Given the description of an element on the screen output the (x, y) to click on. 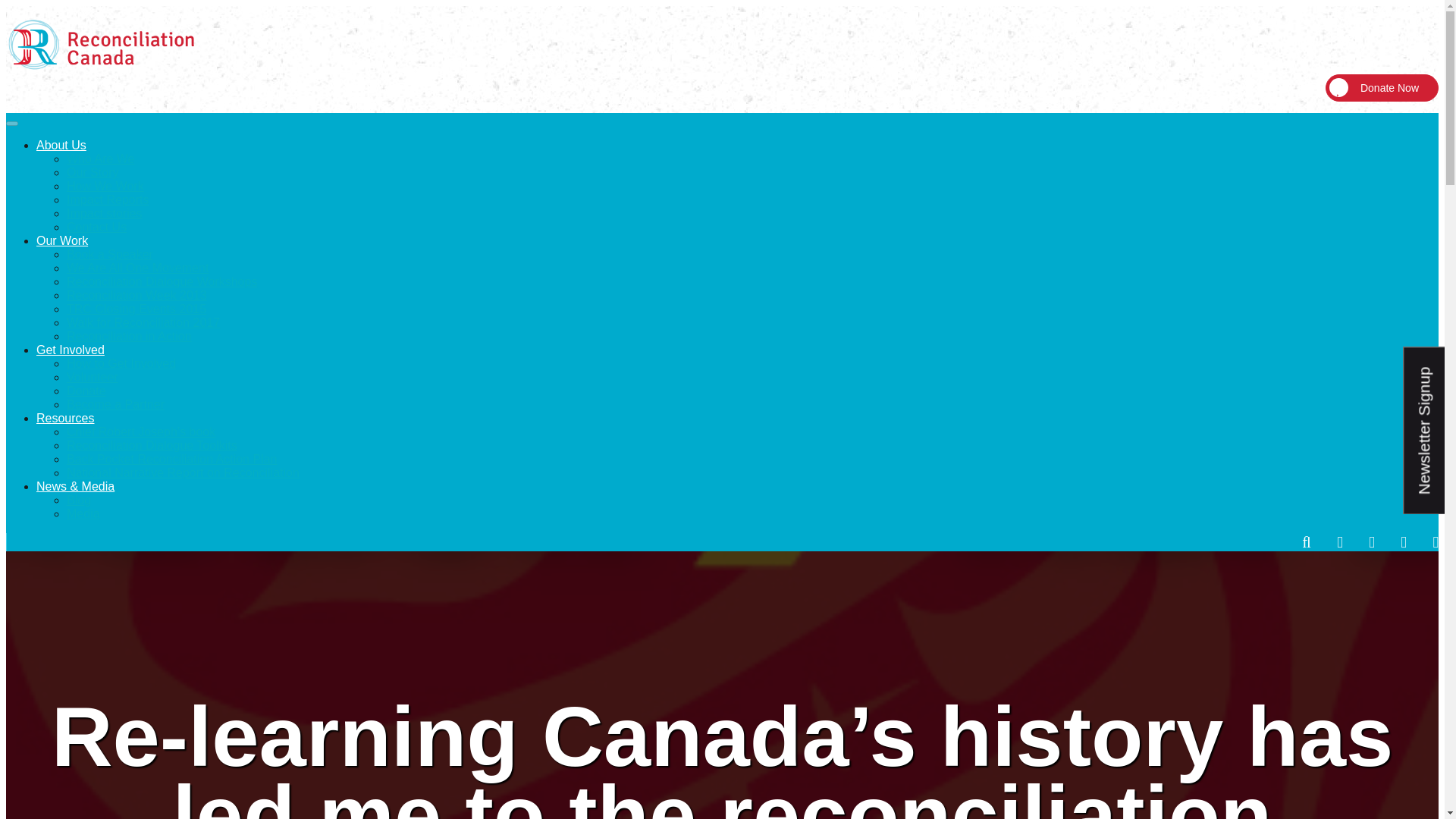
Reconciliation in Action (129, 336)
Book a Speaker (109, 254)
Blog (78, 499)
TRC Closing Events 2015 (136, 308)
Our Story (91, 172)
Our Work (61, 240)
Reconciliation Dialogue Workshops (161, 281)
Reconciliation Dialogue Toolkits (151, 445)
Impact Reports (107, 199)
About Us (60, 144)
We Are All One Movement (137, 267)
Walk for Reconciliation 2017 (142, 322)
Impact stories (104, 213)
Volunteer (91, 377)
National Narrative Report on Reconciliation (182, 472)
